Given the description of an element on the screen output the (x, y) to click on. 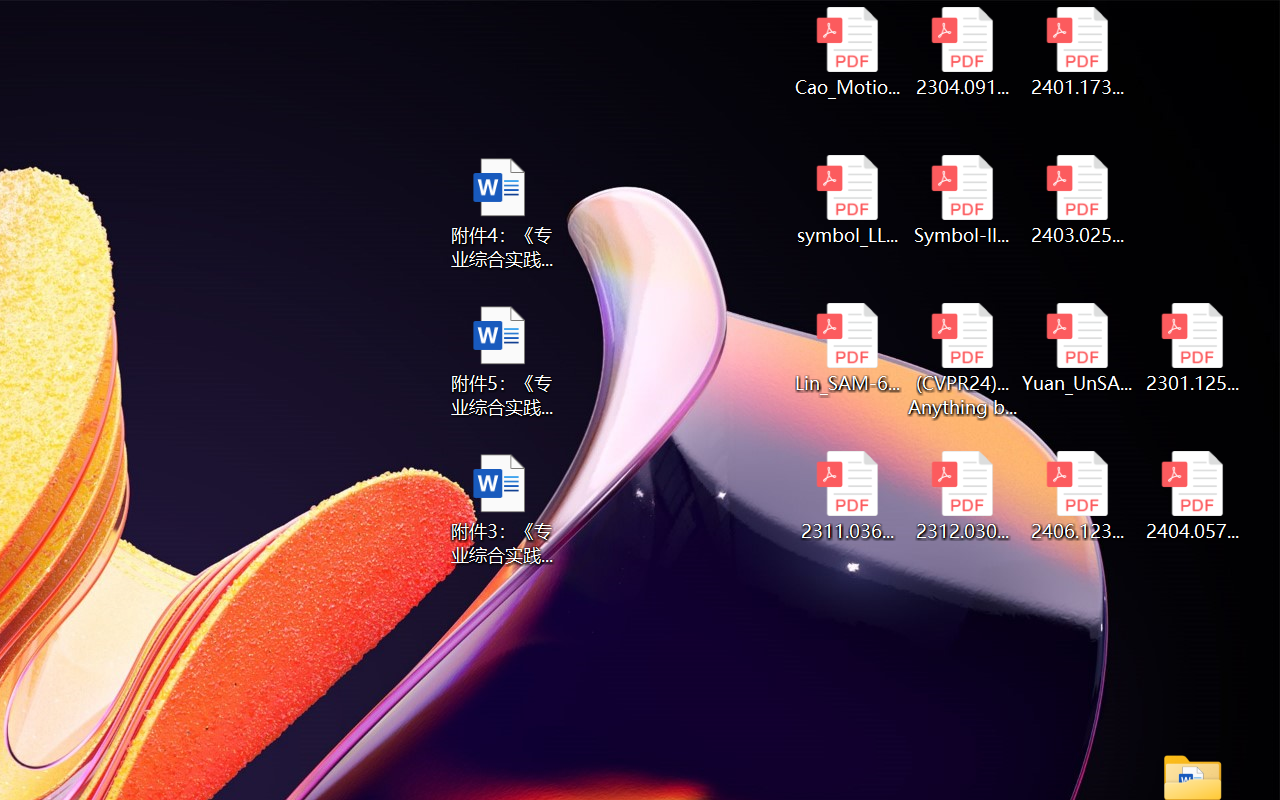
2401.17399v1.pdf (1077, 52)
2312.03032v2.pdf (962, 496)
